Given the description of an element on the screen output the (x, y) to click on. 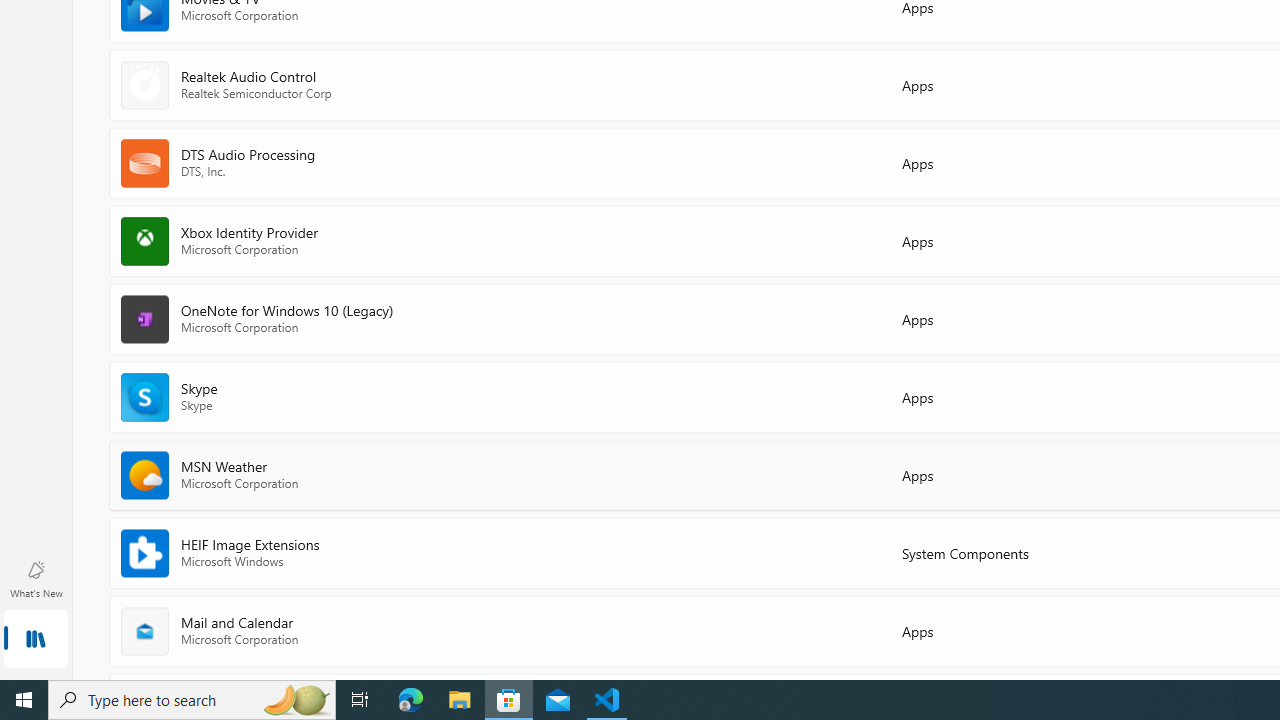
What's New (35, 578)
Library (35, 640)
